Given the description of an element on the screen output the (x, y) to click on. 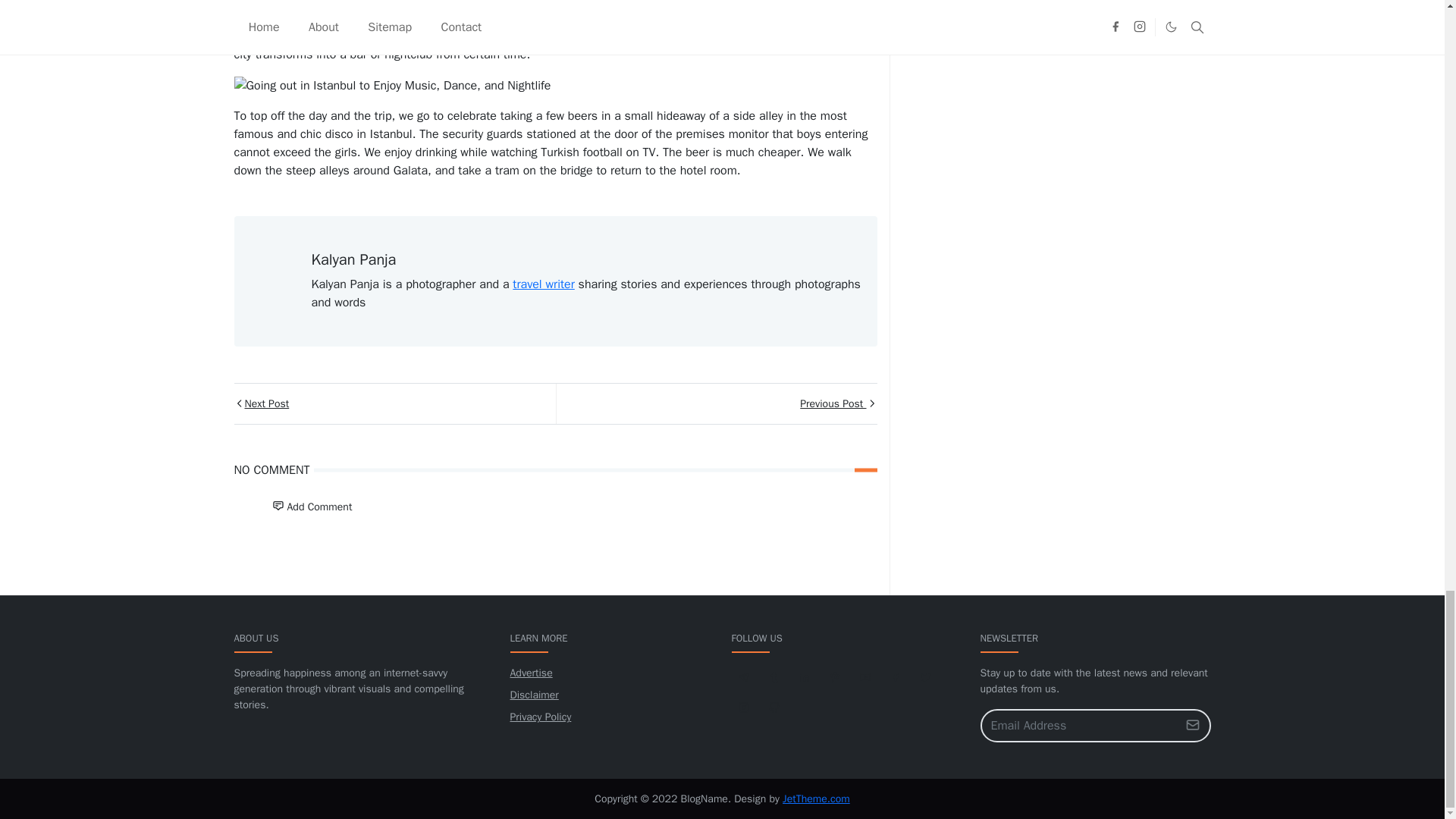
travel writer (542, 283)
Add Comment (311, 506)
Next Post (393, 404)
Previous Post (715, 404)
